Given the description of an element on the screen output the (x, y) to click on. 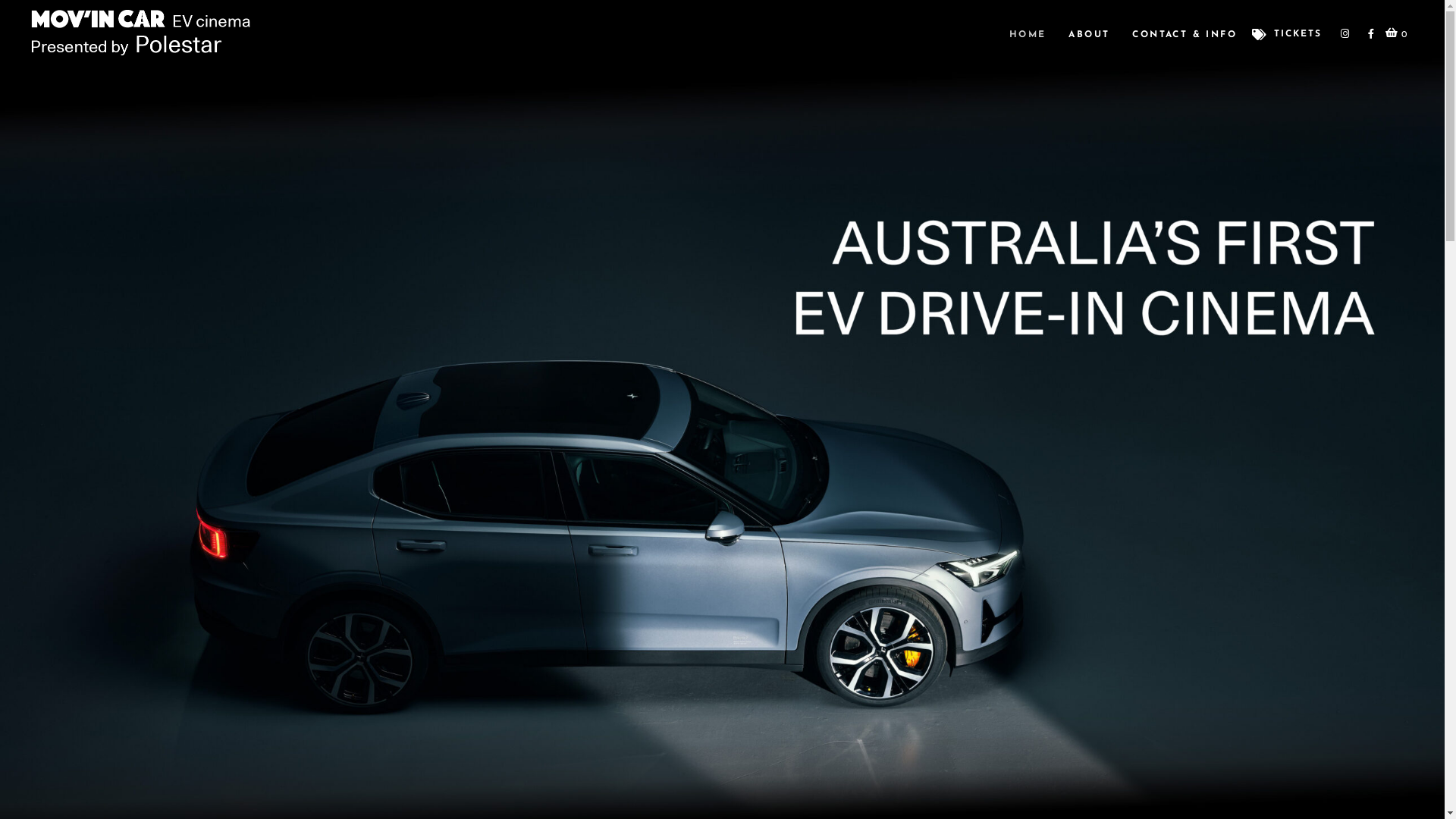
CONTACT & INFO Element type: text (1184, 34)
HOME Element type: text (1027, 34)
ABOUT Element type: text (1088, 34)
TICKETS Element type: text (1286, 34)
0 Element type: text (1395, 34)
